Given the description of an element on the screen output the (x, y) to click on. 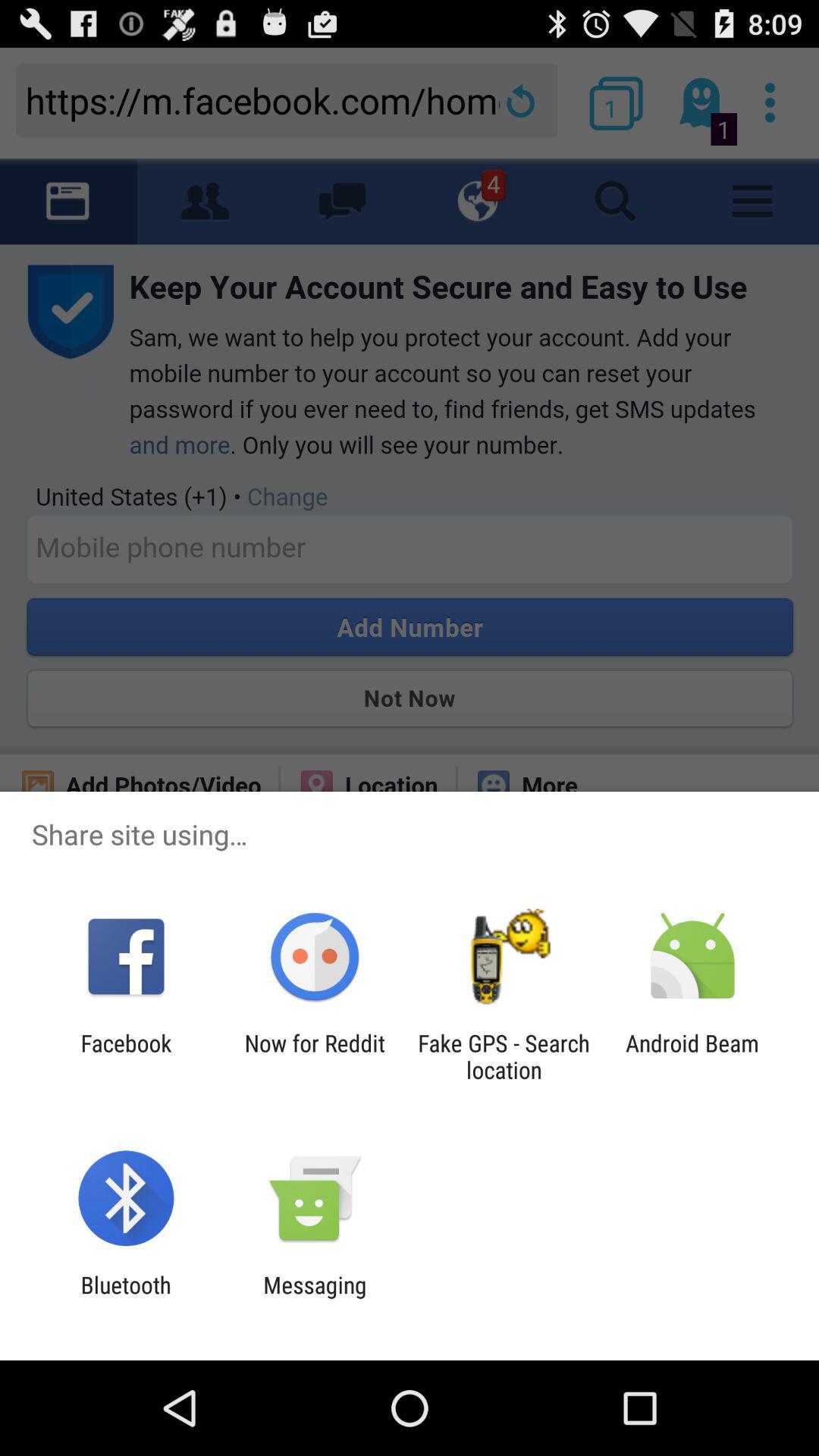
click the app to the right of the now for reddit icon (503, 1056)
